Given the description of an element on the screen output the (x, y) to click on. 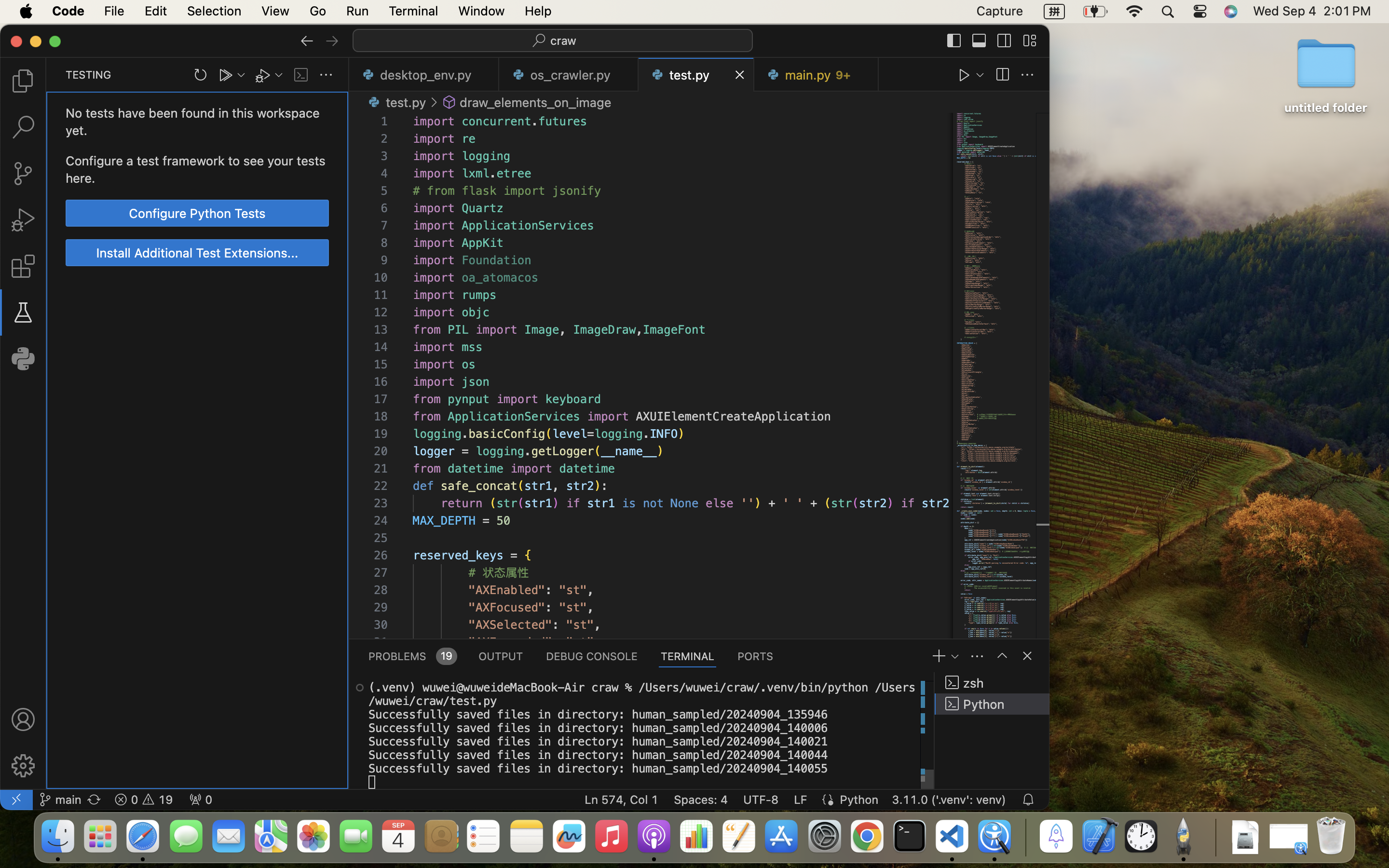
 Element type: AXButton (964, 74)
 Element type: AXButton (307, 40)
zsh  Element type: AXGroup (991, 682)
draw_elements_on_image Element type: AXGroup (535, 101)
0 PROBLEMS 19 Element type: AXRadioButton (411, 655)
